Given the description of an element on the screen output the (x, y) to click on. 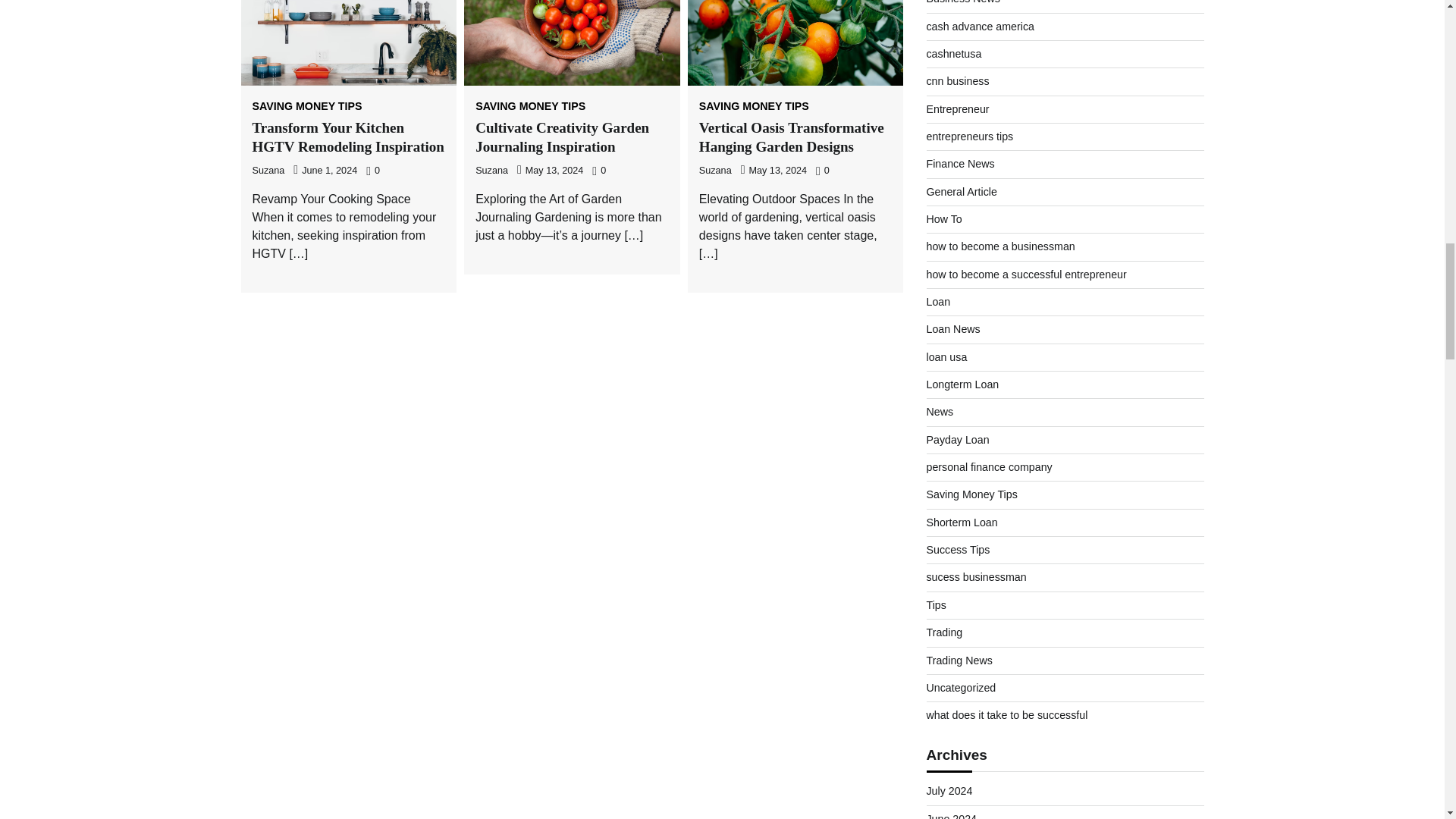
Transform Your Kitchen HGTV Remodeling Inspiration (347, 136)
SAVING MONEY TIPS (306, 105)
